Given the description of an element on the screen output the (x, y) to click on. 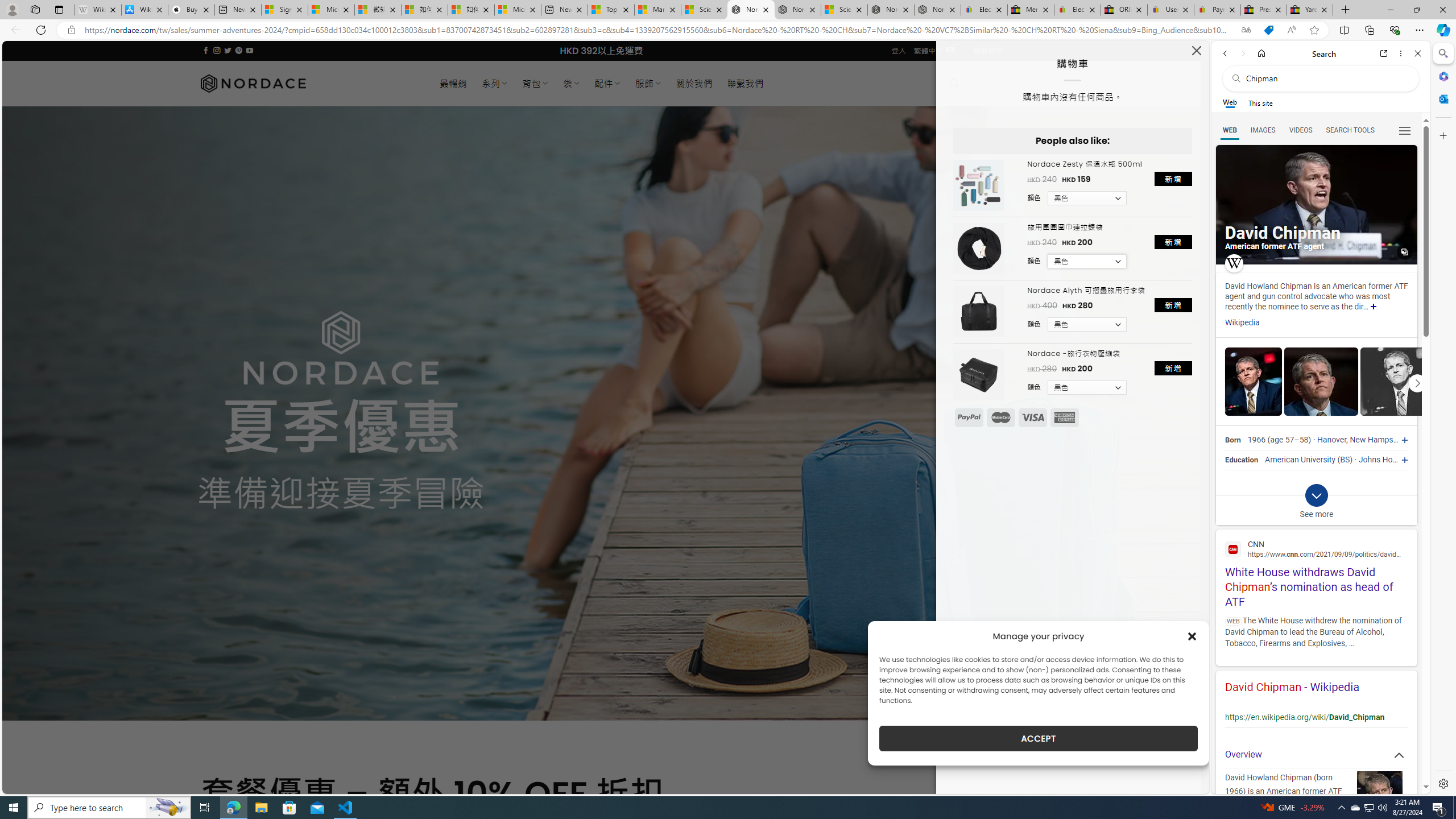
Class: feather feather-x (1196, 50)
 0  (988, 83)
BS (1344, 460)
Overview (1315, 755)
View details (1396, 382)
Payments Terms of Use | eBay.com (1216, 9)
